Given the description of an element on the screen output the (x, y) to click on. 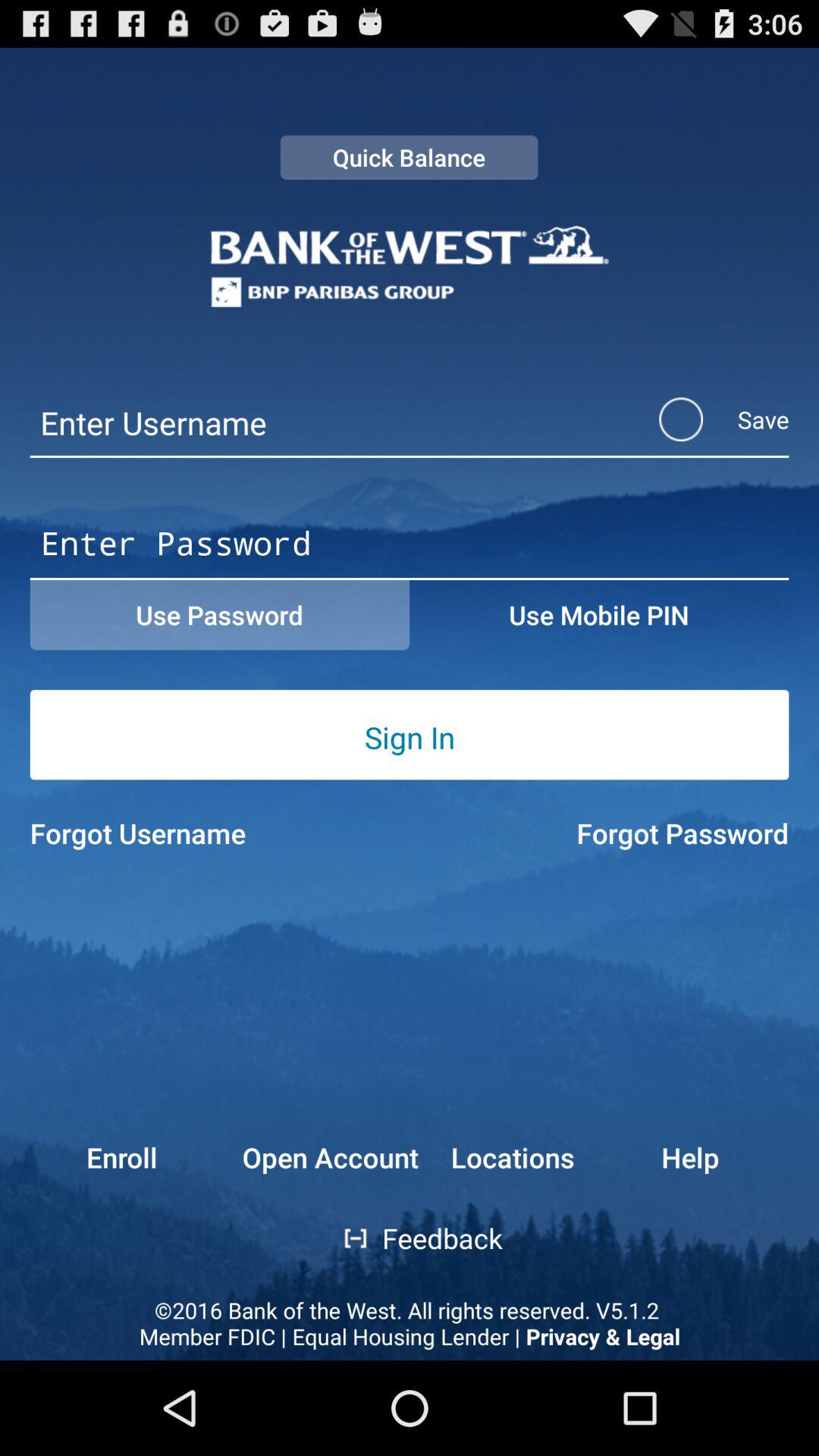
turn on button next to the help button (512, 1157)
